Given the description of an element on the screen output the (x, y) to click on. 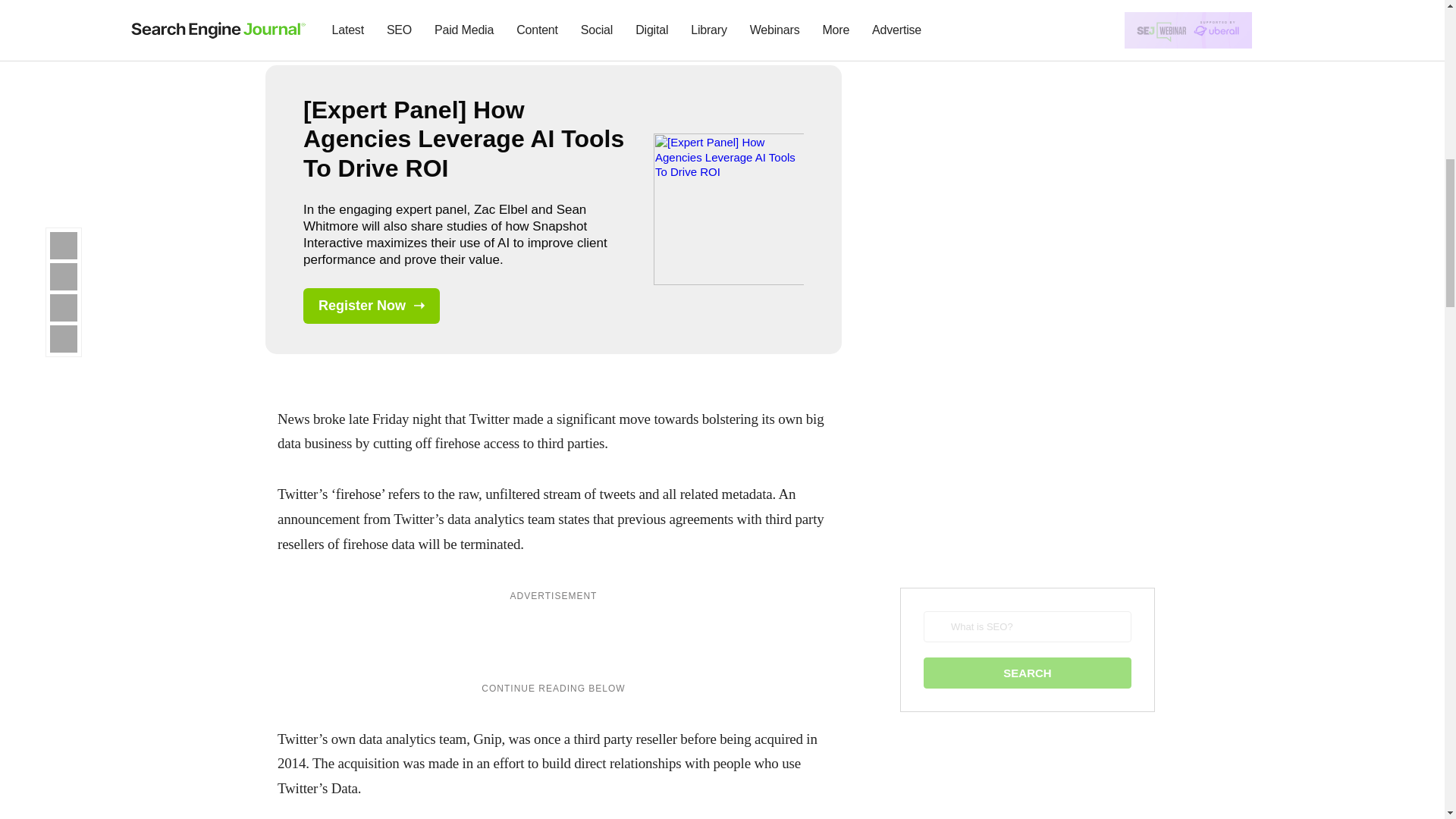
SEARCH (1027, 672)
SEARCH (1027, 672)
